Given the description of an element on the screen output the (x, y) to click on. 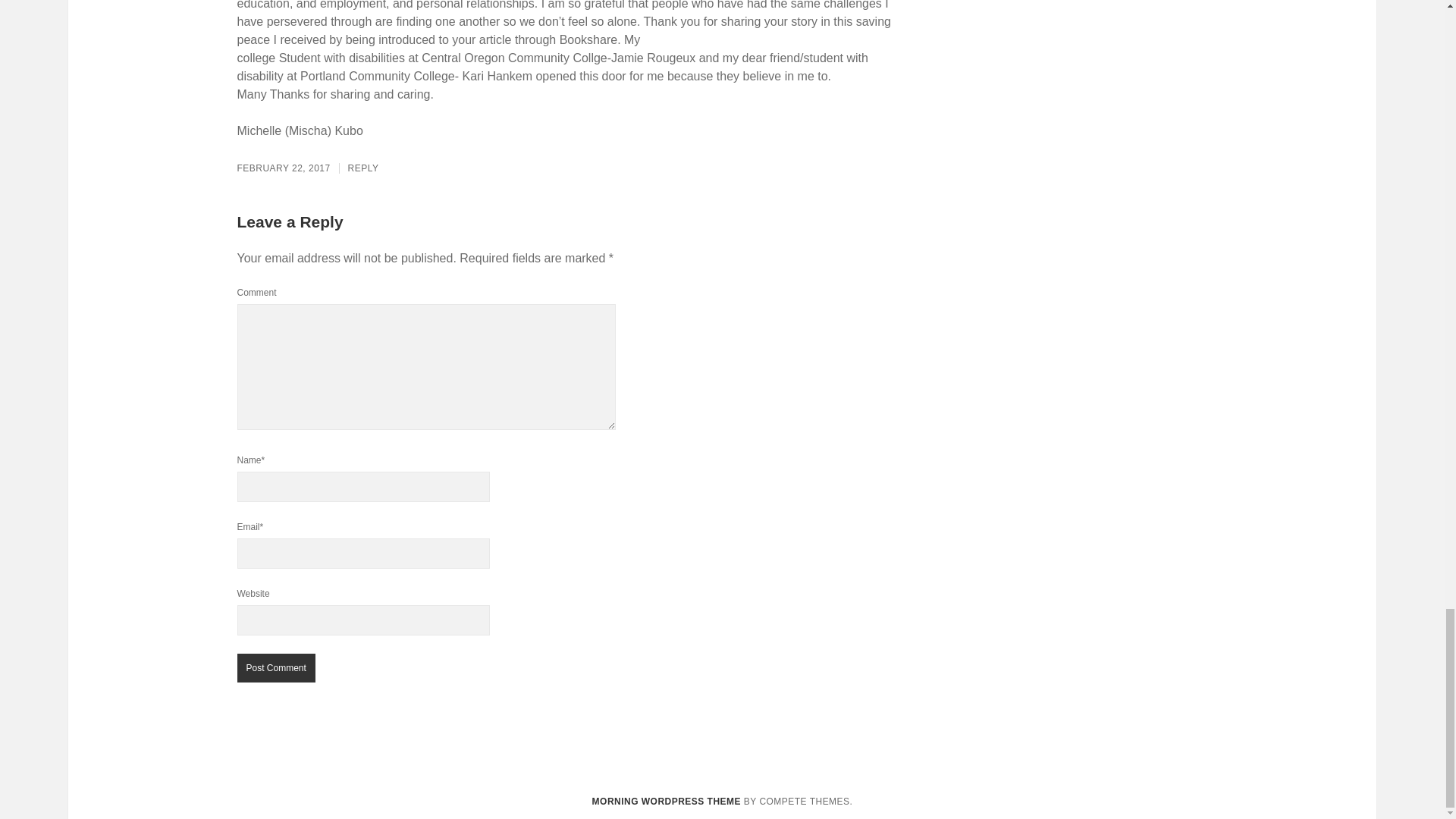
REPLY (362, 167)
Post Comment (274, 667)
